Given the description of an element on the screen output the (x, y) to click on. 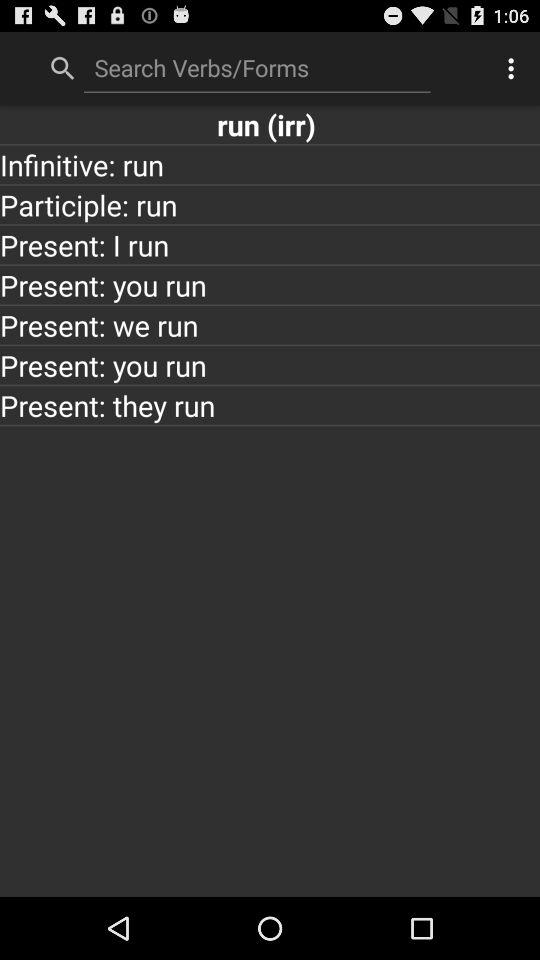
press the participle: run (270, 204)
